Given the description of an element on the screen output the (x, y) to click on. 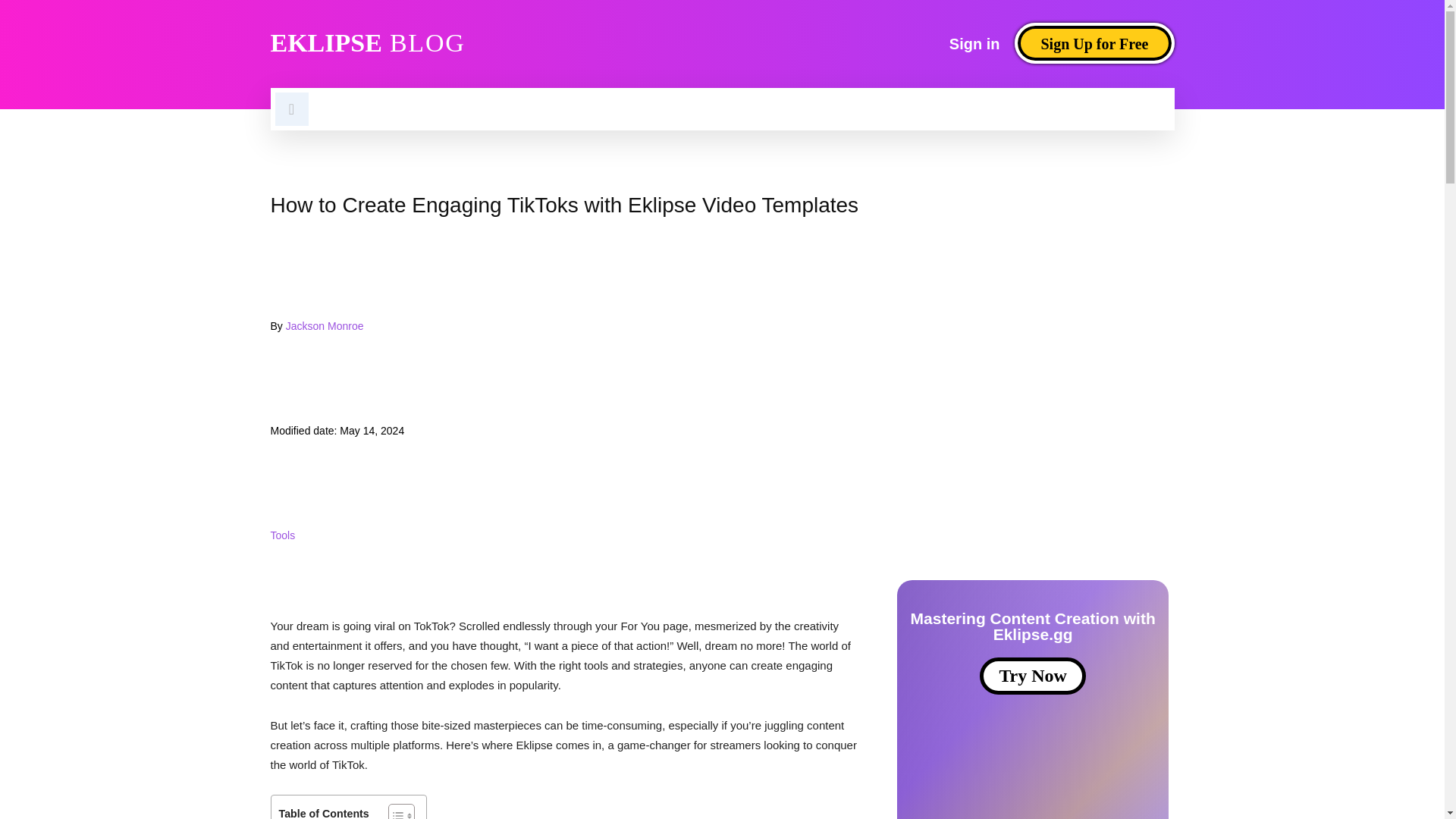
Sign Up for Free (1093, 42)
Sign in (974, 43)
Sign Up for Free (1093, 42)
Jackson Monroe (297, 309)
Sign in (974, 43)
